Given the description of an element on the screen output the (x, y) to click on. 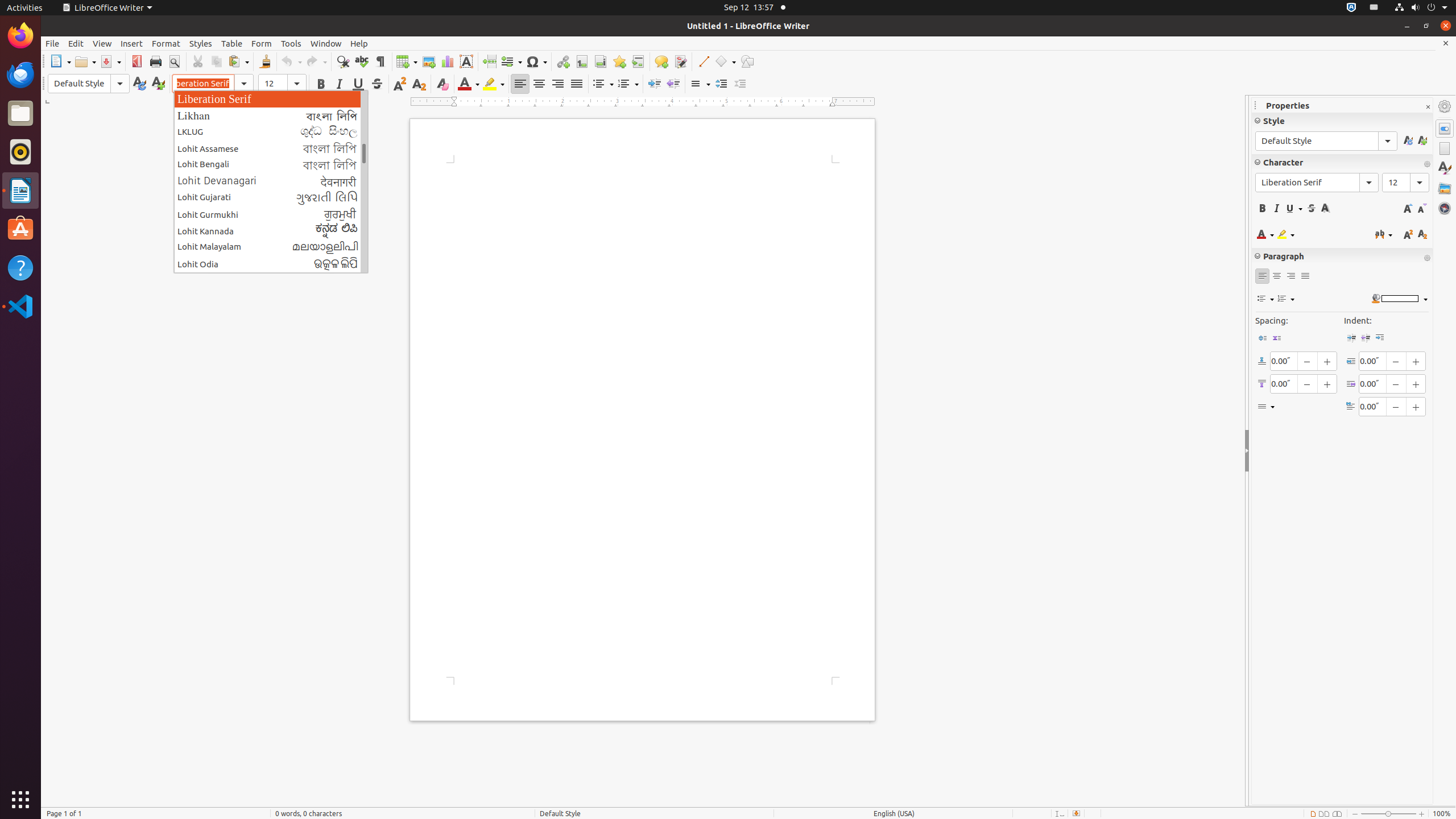
Close Sidebar Deck Element type: push-button (1427, 106)
Highlight Color Element type: push-button (493, 83)
Files Element type: push-button (20, 113)
Text Box Element type: push-button (465, 61)
Right Element type: toggle-button (557, 83)
